Given the description of an element on the screen output the (x, y) to click on. 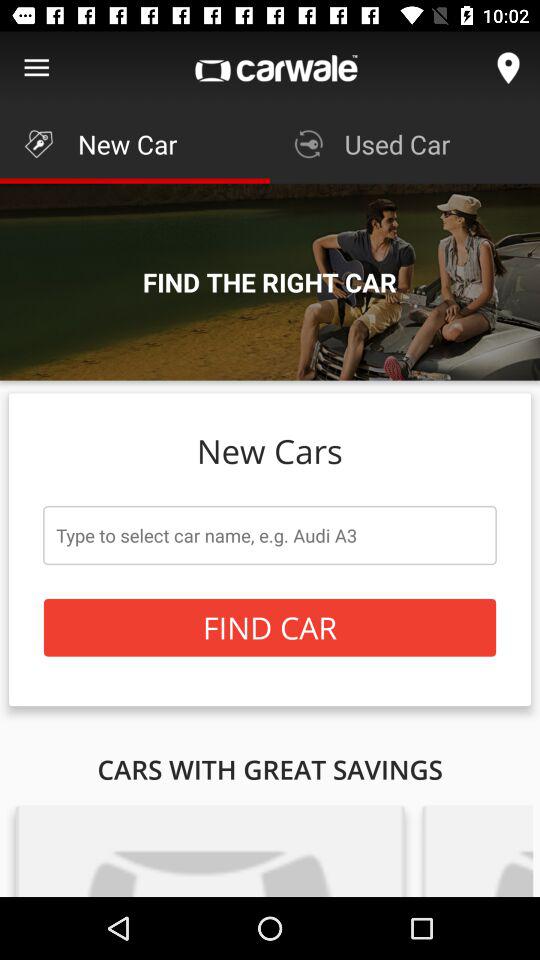
show main menu (36, 68)
